Given the description of an element on the screen output the (x, y) to click on. 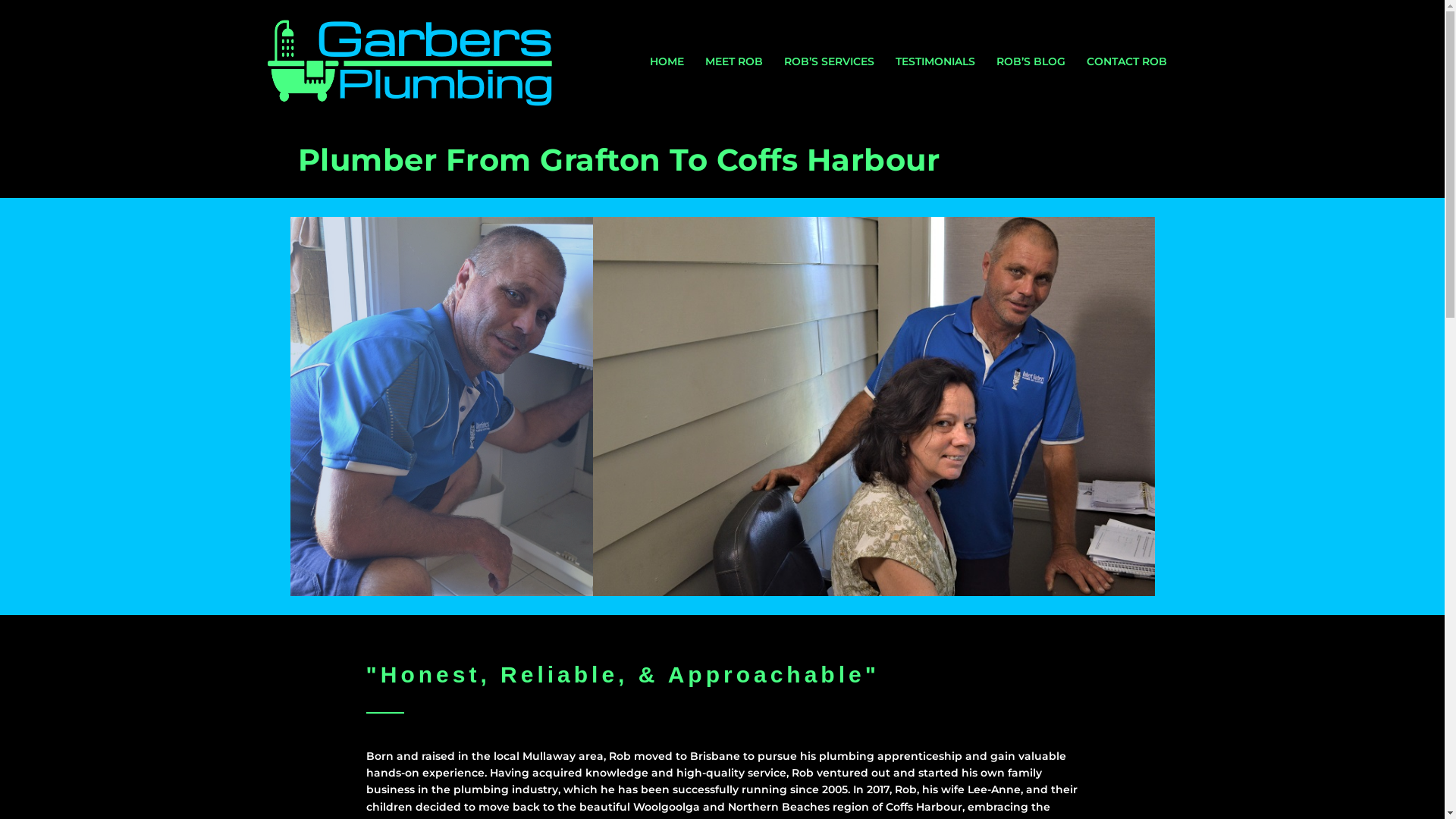
TESTIMONIALS Element type: text (934, 60)
CONTACT ROB Element type: text (1125, 60)
MEET ROB Element type: text (733, 60)
HOME Element type: text (665, 60)
